Given the description of an element on the screen output the (x, y) to click on. 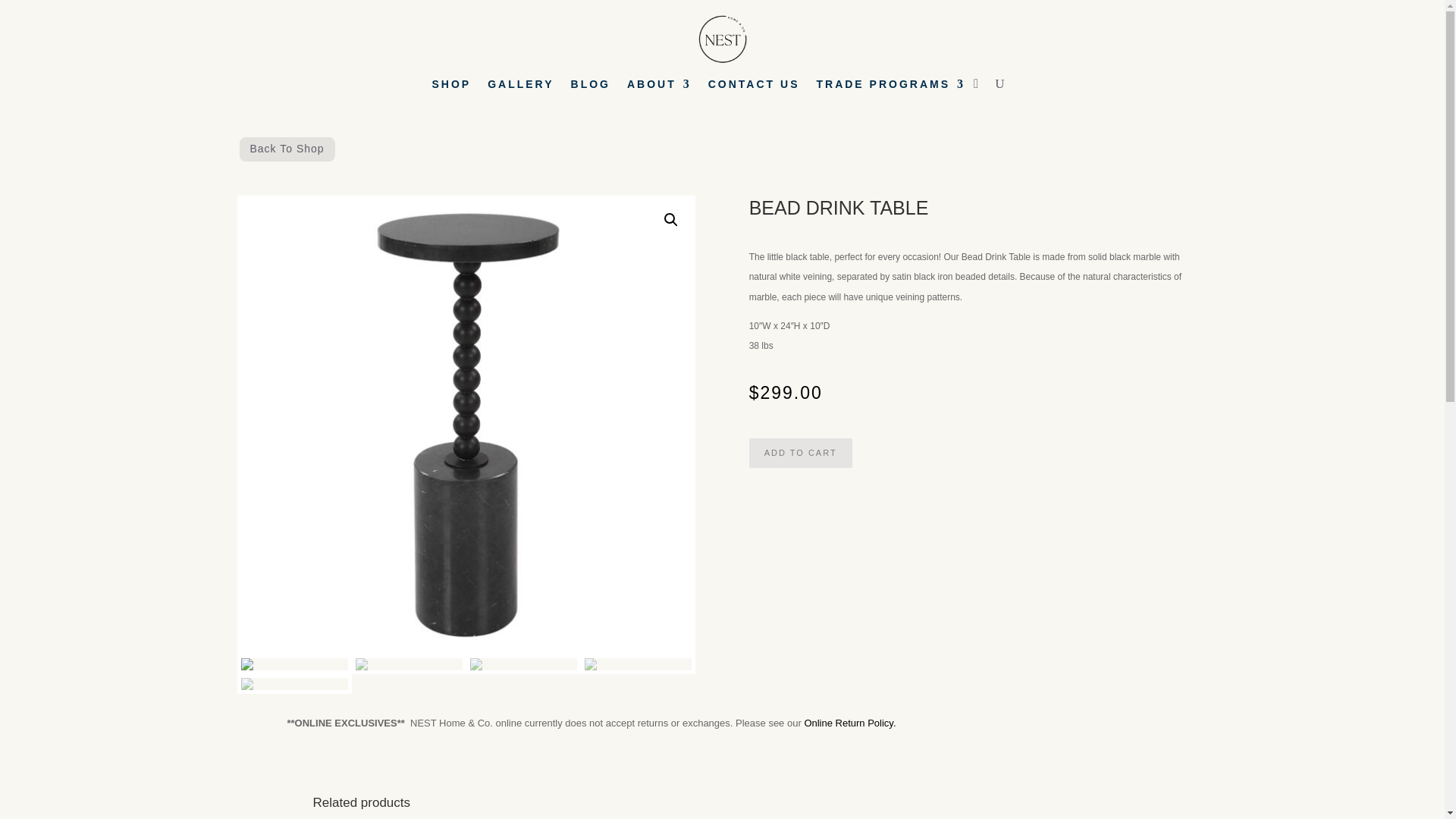
ADD TO CART (800, 452)
CONTACT US (753, 86)
ABOUT (659, 86)
BLOG (590, 86)
SHOP (450, 86)
GALLERY (520, 86)
Online Return Policy. (849, 722)
TRADE PROGRAMS (890, 86)
Back To Shop (285, 149)
